Given the description of an element on the screen output the (x, y) to click on. 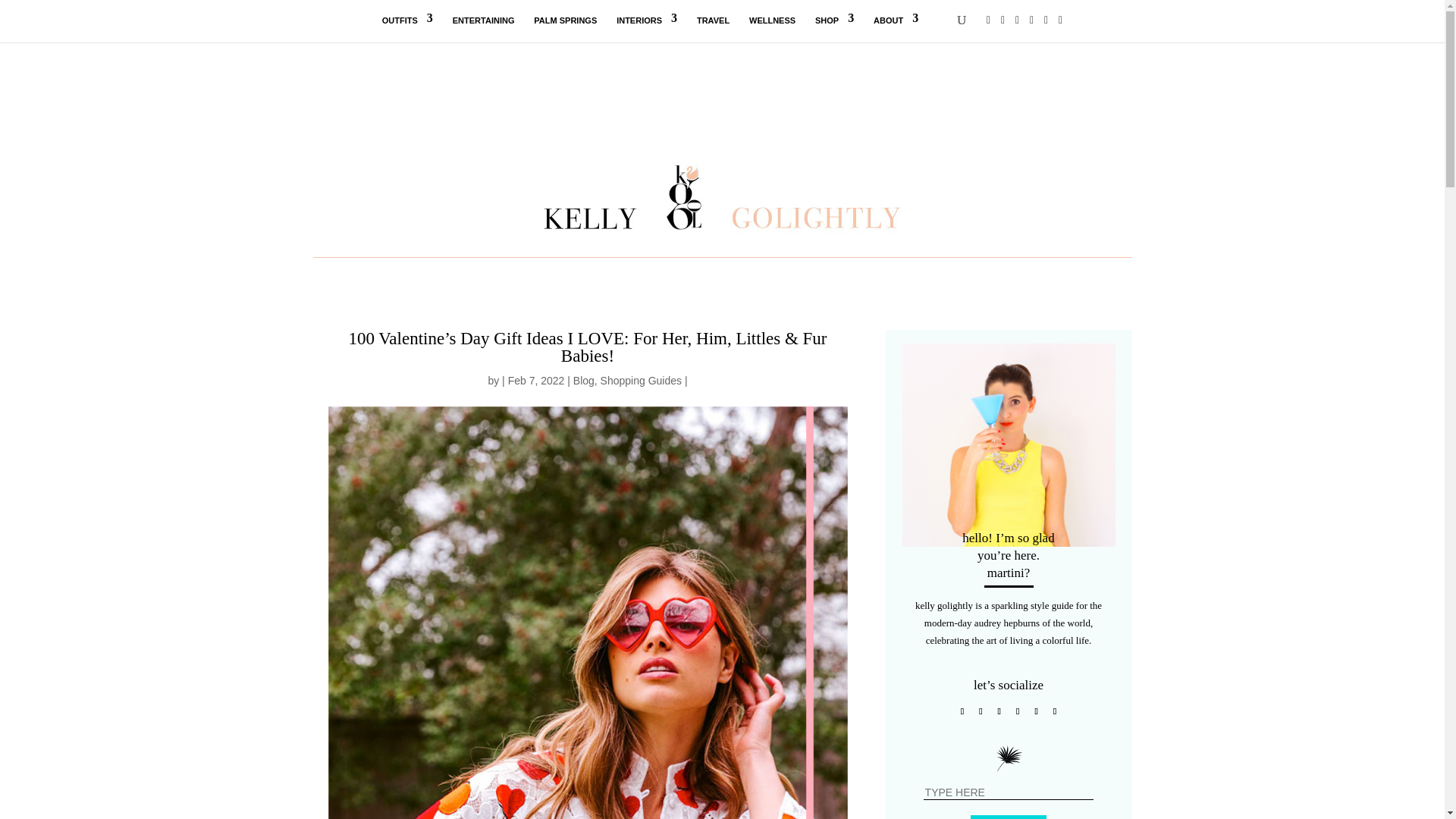
WELLNESS (771, 28)
ENTERTAINING (483, 28)
TRAVEL (713, 28)
Search for: (1008, 792)
ABOUT (895, 28)
SHOP (834, 28)
OUTFITS (406, 28)
INTERIORS (646, 28)
PALM SPRINGS (565, 28)
